Given the description of an element on the screen output the (x, y) to click on. 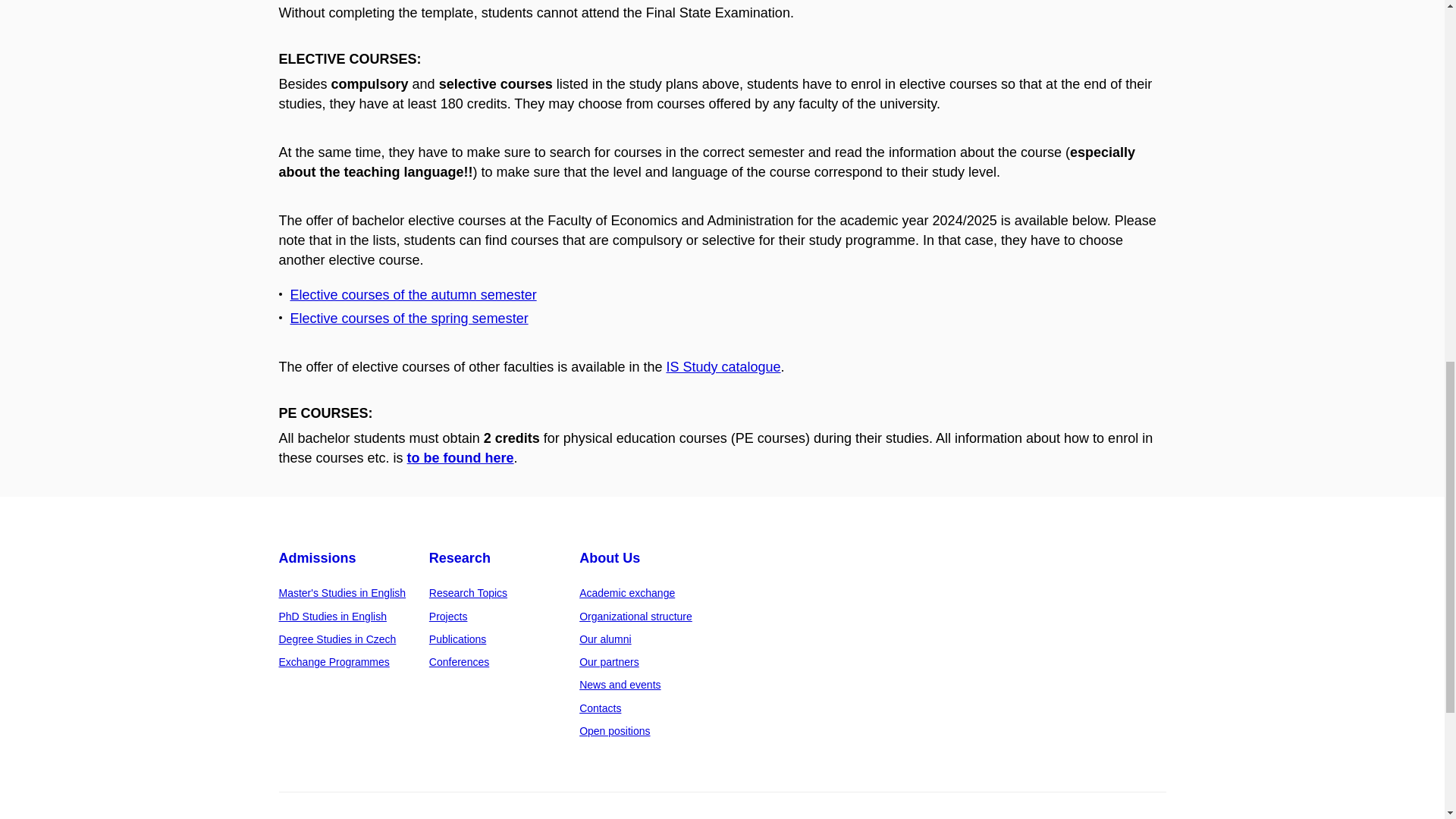
Organizational structure (636, 616)
Research Topics (467, 592)
Degree Studies in Czech (337, 639)
About Us (609, 557)
PhD Studies in English (333, 616)
BP AJ Volen (412, 294)
Research (459, 557)
Conferences (459, 662)
Academic exchange (627, 592)
Exchange Programmes (334, 662)
